Given the description of an element on the screen output the (x, y) to click on. 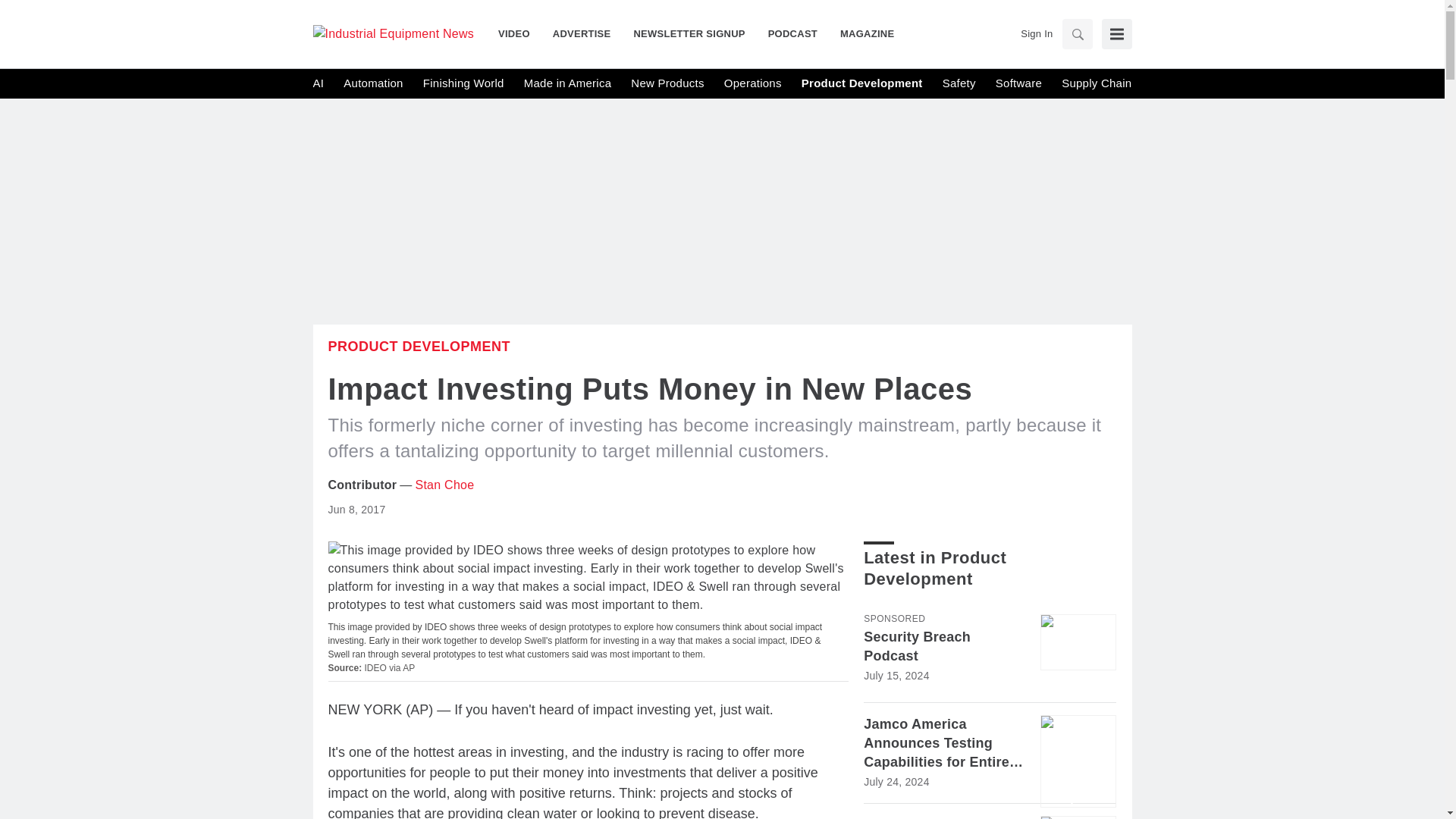
VIDEO (519, 33)
Safety (958, 83)
Product Development (419, 346)
Supply Chain (1096, 83)
Sign In (1036, 33)
Made in America (567, 83)
Automation (373, 83)
PODCAST (792, 33)
Operations (752, 83)
Software (1018, 83)
MAGAZINE (860, 33)
Product Development (862, 83)
Sponsored (893, 618)
Finishing World (463, 83)
New Products (666, 83)
